Given the description of an element on the screen output the (x, y) to click on. 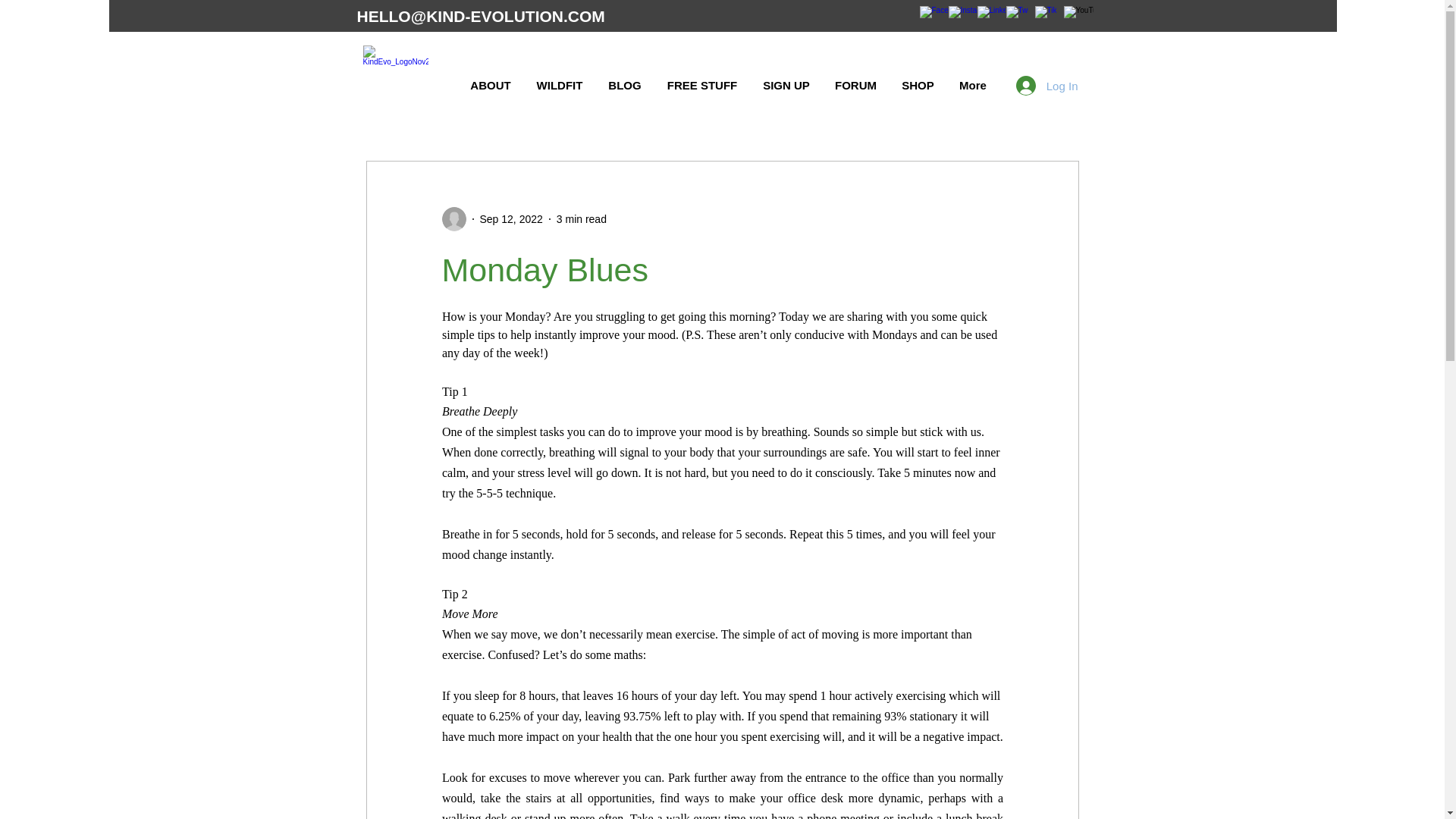
ABOUT (491, 85)
FREE STUFF (701, 85)
WILDFIT (558, 85)
FORUM (855, 85)
SHOP (917, 85)
SIGN UP (786, 85)
Sep 12, 2022 (510, 218)
BLOG (624, 85)
3 min read (581, 218)
Log In (1047, 85)
